Given the description of an element on the screen output the (x, y) to click on. 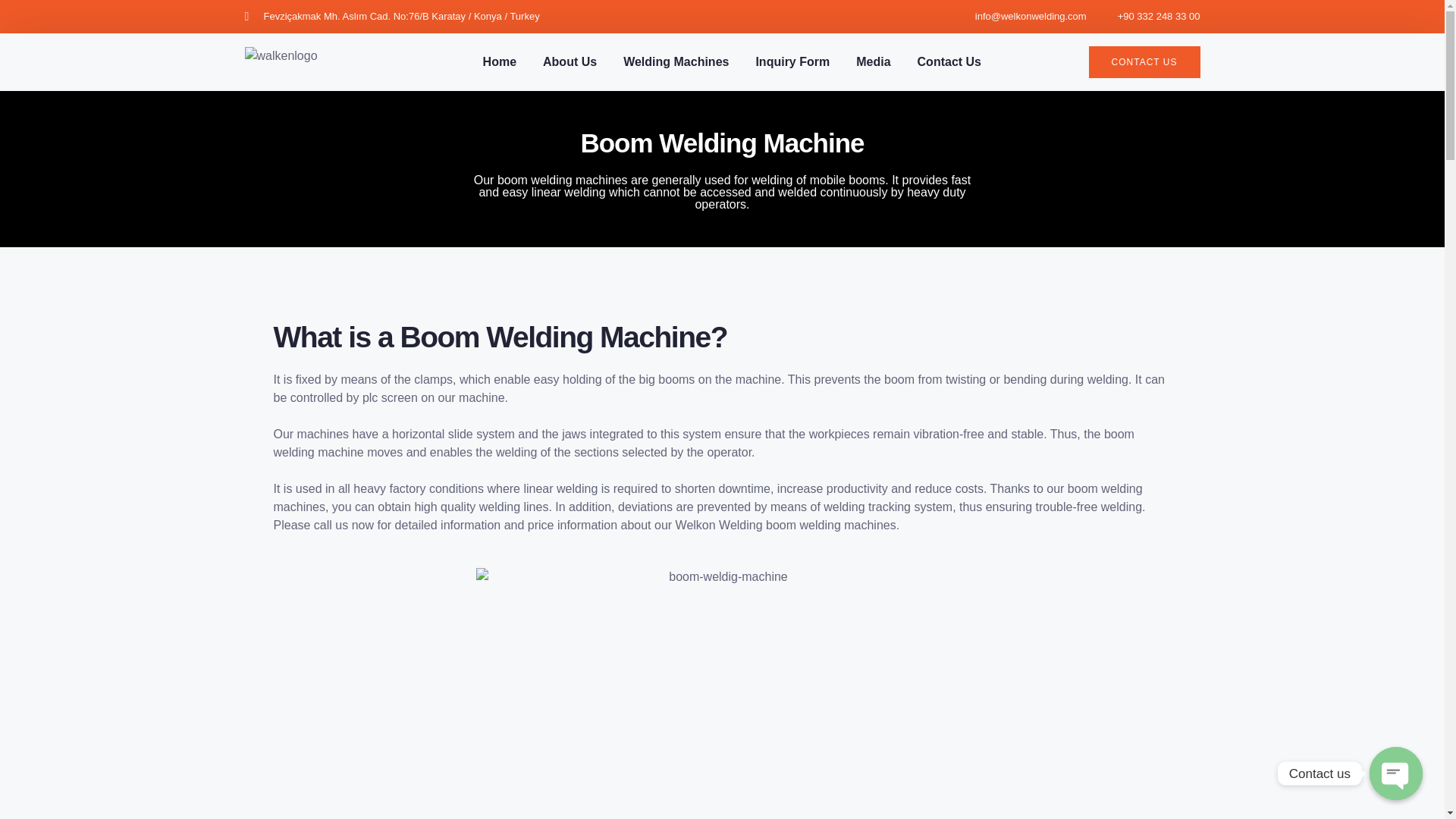
Welding Machines (676, 61)
Inquiry Form (792, 61)
About Us (569, 61)
Contact Us (949, 61)
